Given the description of an element on the screen output the (x, y) to click on. 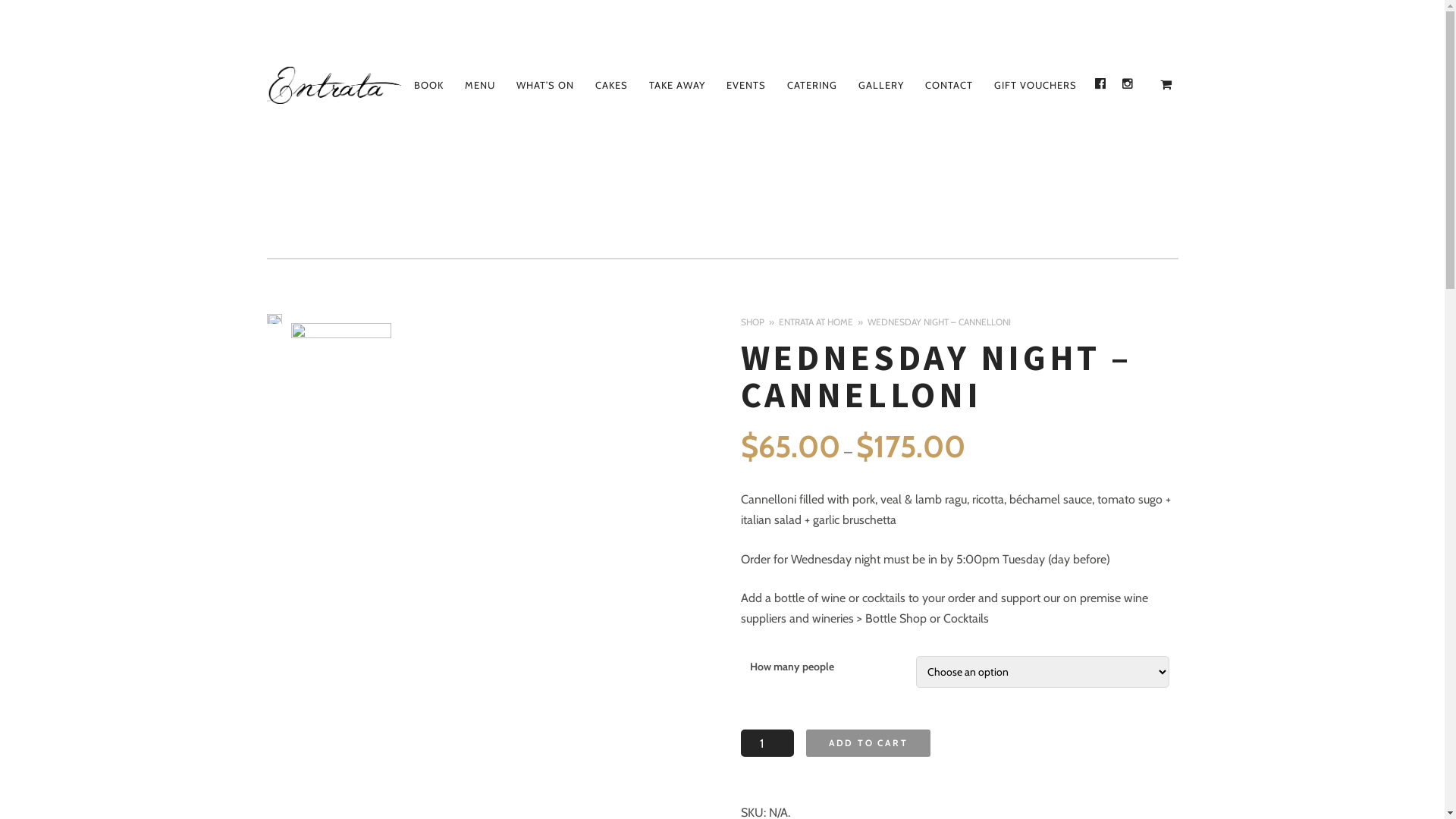
MENU Element type: text (479, 84)
Entrata Element type: hover (333, 84)
BOOK Element type: text (428, 84)
EVENTS Element type: text (745, 84)
Qty Element type: hover (766, 742)
CONTACT Element type: text (948, 84)
Cannelloni with meat Element type: hover (274, 318)
TAKE AWAY Element type: text (676, 84)
ENTRATA AT HOME Element type: text (822, 321)
GALLERY Element type: text (880, 84)
ADD TO CART Element type: text (868, 742)
SHOP Element type: text (759, 321)
CATERING Element type: text (811, 84)
Cannelloni-with-Meat Element type: hover (341, 373)
GIFT VOUCHERS Element type: text (1034, 84)
CAKES Element type: text (610, 84)
